Given the description of an element on the screen output the (x, y) to click on. 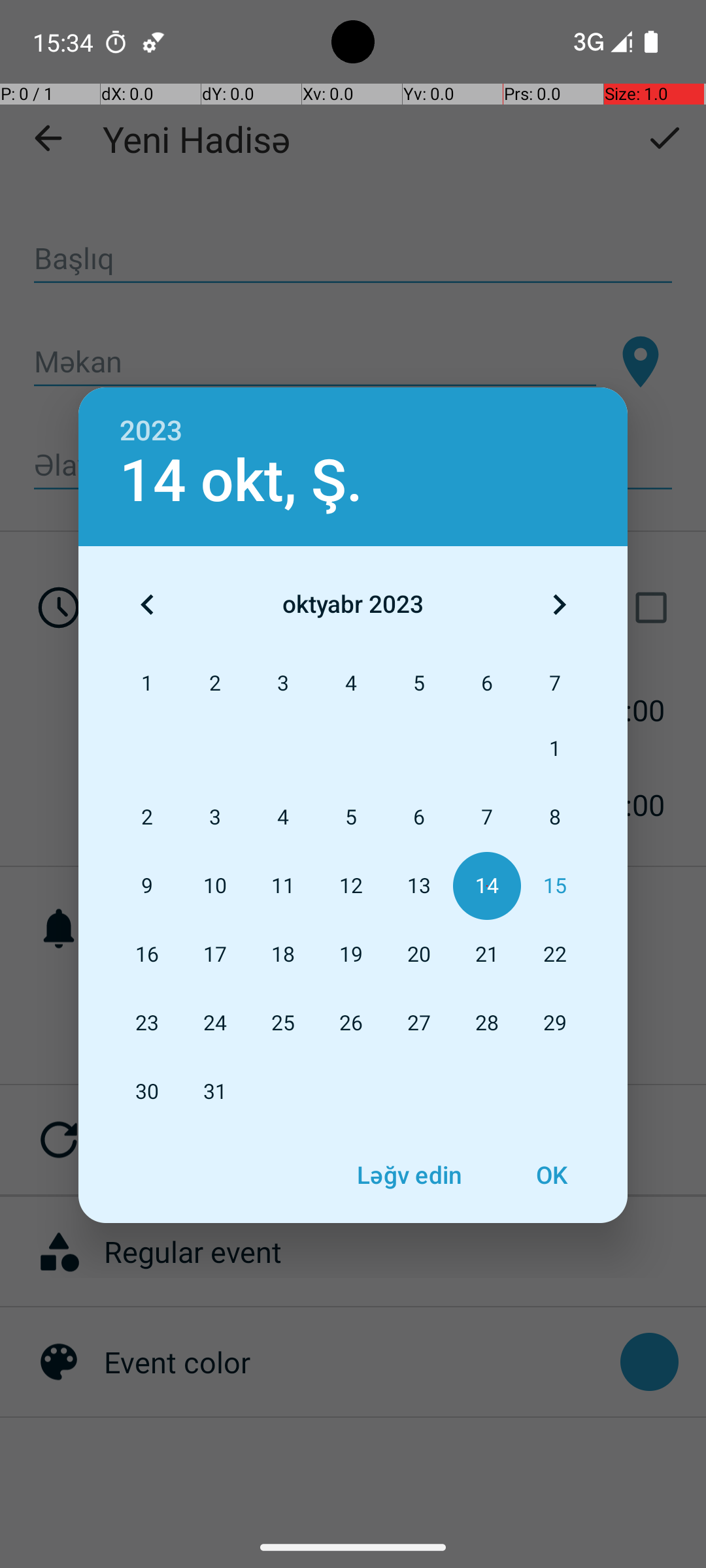
14 okt, Ş. Element type: android.widget.TextView (240, 480)
Keçən ay Element type: android.widget.ImageButton (146, 604)
Gələn ay Element type: android.widget.ImageButton (558, 604)
Ləğv edin Element type: android.widget.Button (409, 1174)
